Given the description of an element on the screen output the (x, y) to click on. 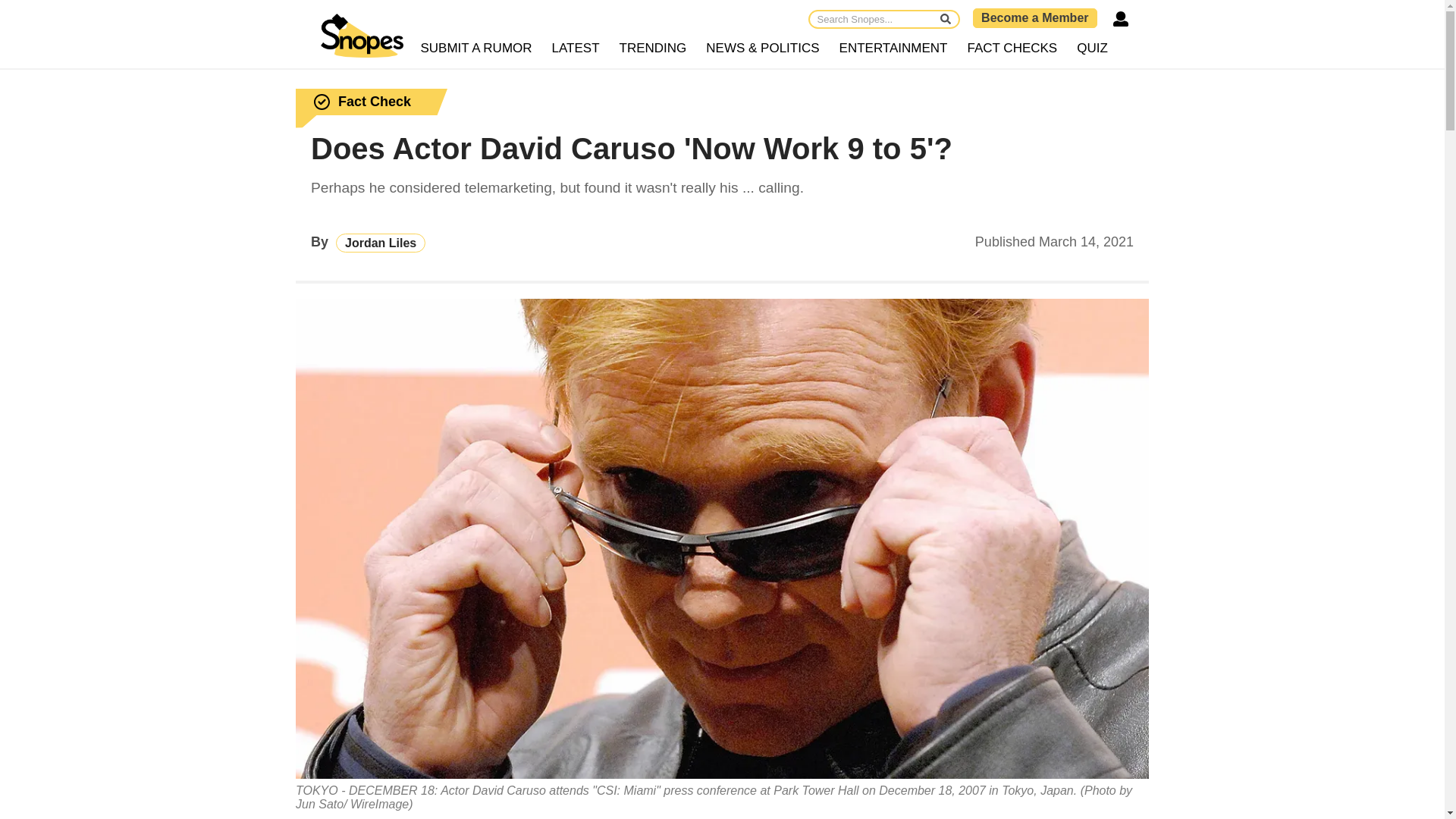
ENTERTAINMENT (893, 47)
Become a Member (1034, 17)
LATEST (576, 47)
TRENDING (653, 47)
SUBMIT A RUMOR (475, 47)
QUIZ (1092, 47)
Jordan Liles (380, 242)
FACT CHECKS (1011, 47)
